Given the description of an element on the screen output the (x, y) to click on. 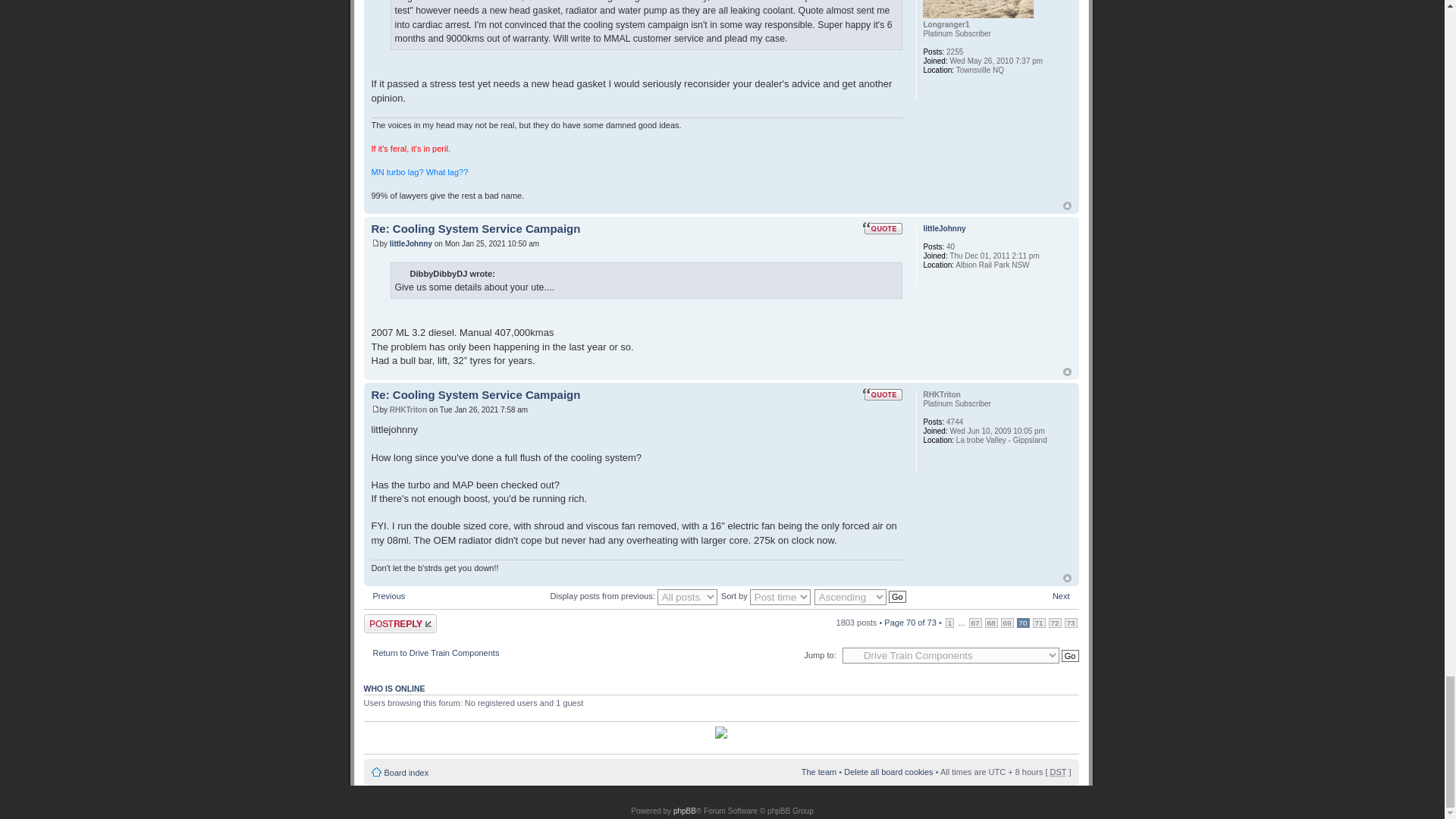
Go (896, 596)
Go (1069, 655)
